Given the description of an element on the screen output the (x, y) to click on. 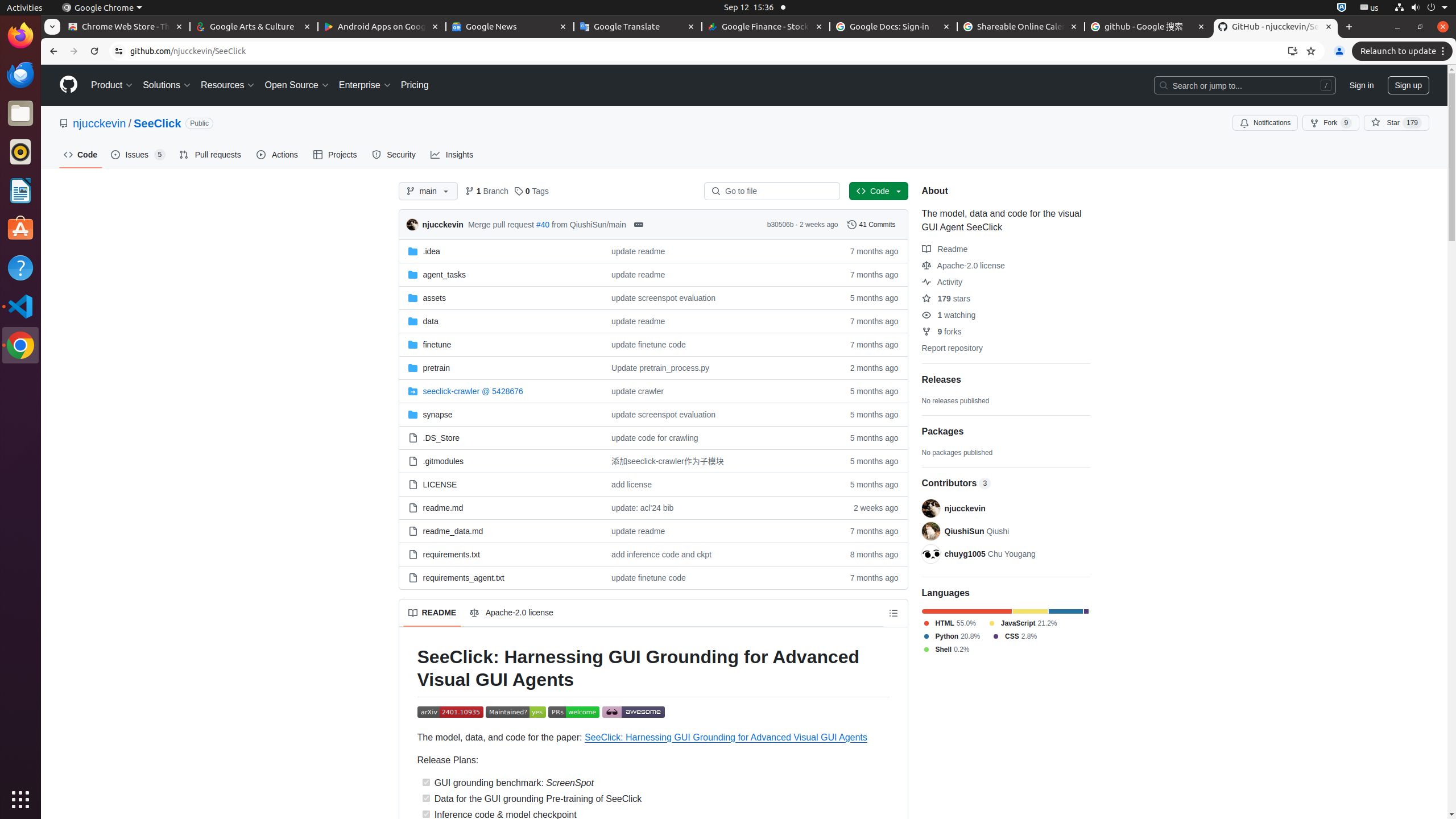
2 months ago Element type: table-cell (868, 367)
pretrain, (Directory) Element type: link (435, 367)
Commit b30506b Element type: link (779, 224)
Homepage Element type: link (68, 85)
Go to file Element type: combo-box (776, 190)
